Given the description of an element on the screen output the (x, y) to click on. 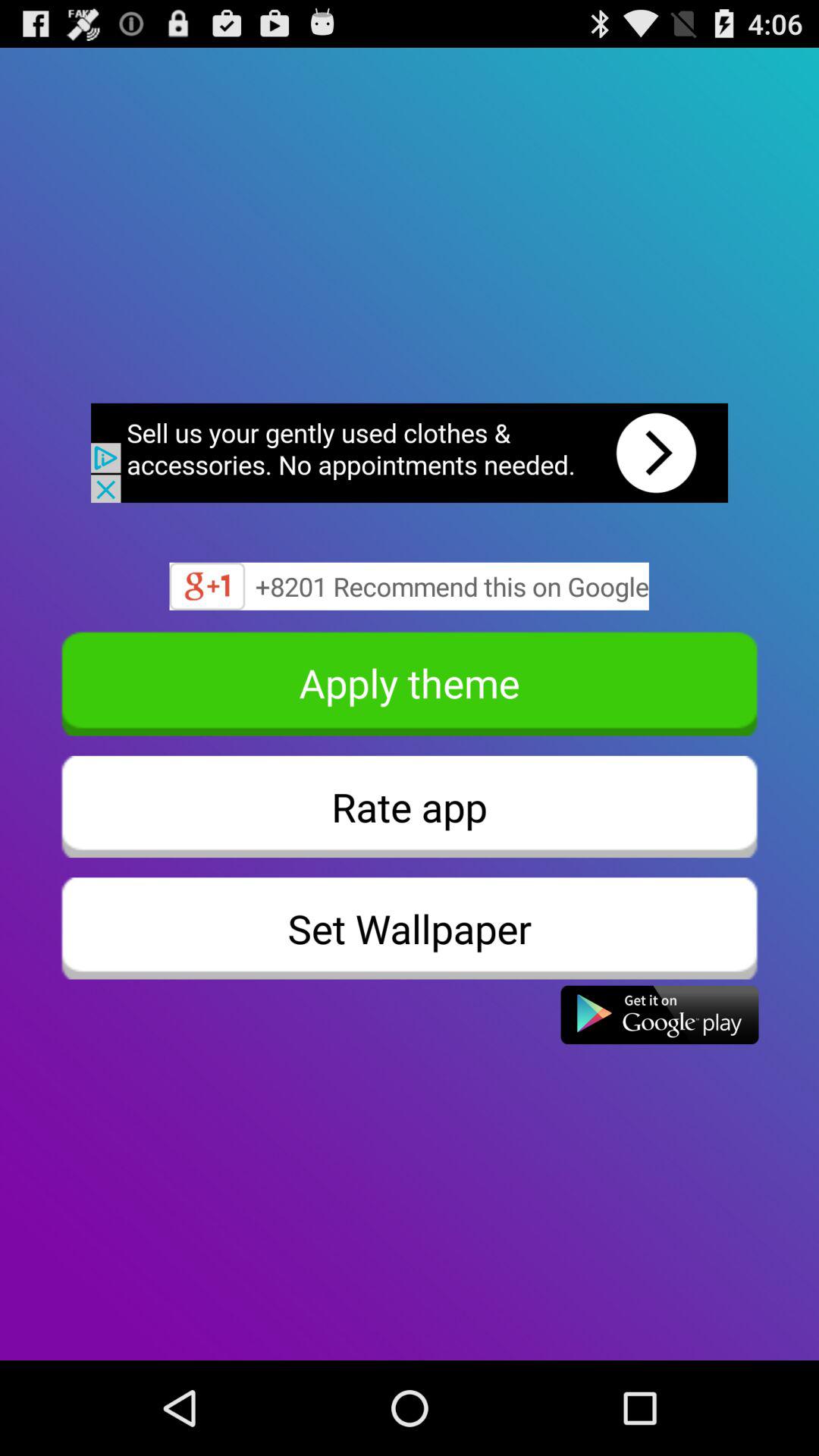
advertisement (409, 452)
